Given the description of an element on the screen output the (x, y) to click on. 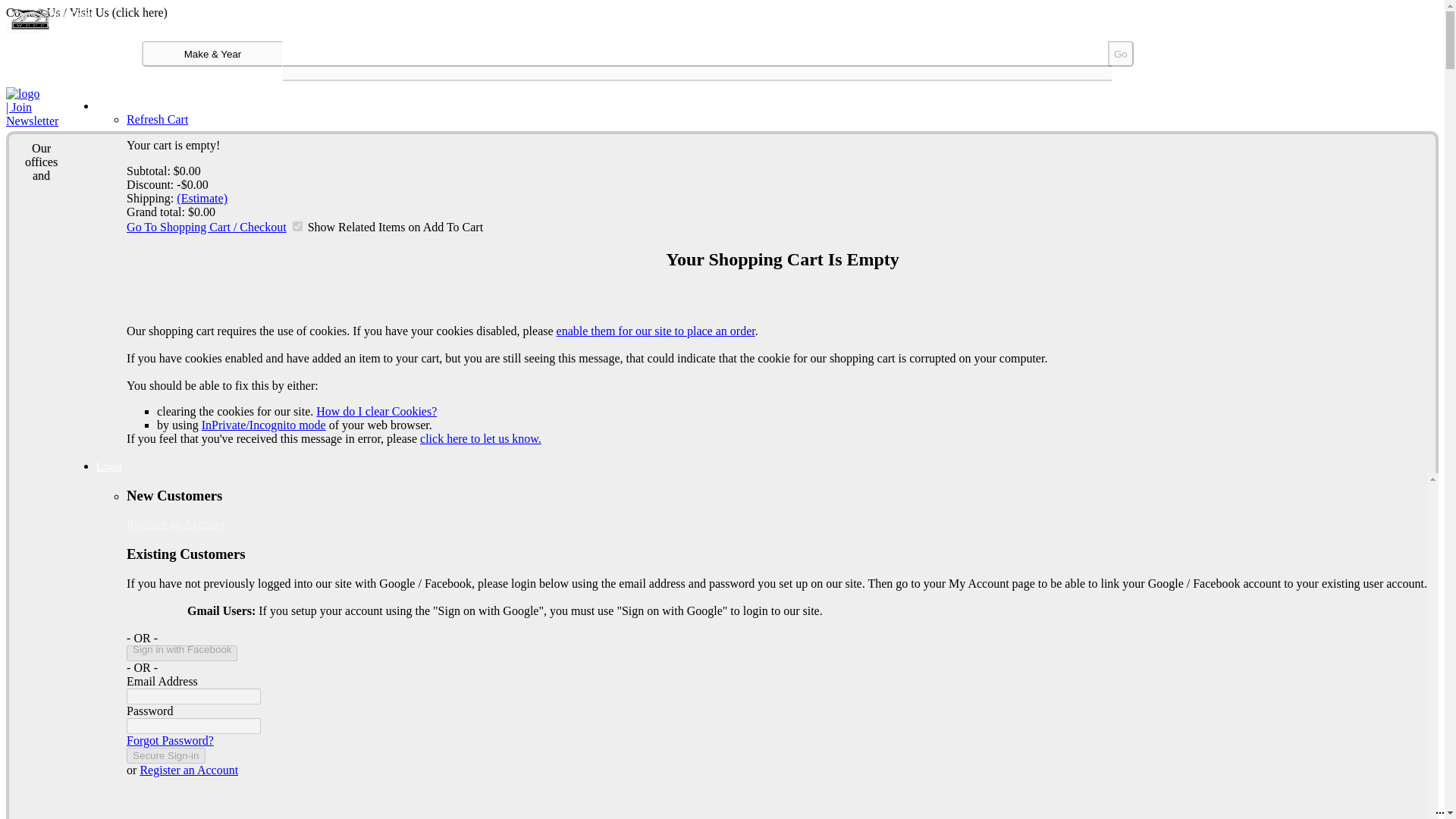
enable them for our site to place an order (655, 330)
Menu (24, 27)
Secure Sign-in (165, 755)
Go (1121, 53)
How do I clear Cookies? (375, 410)
Help with Cookies (655, 330)
View Main Menu (24, 27)
Sign in with Facebook (181, 652)
Go (1121, 53)
on (297, 225)
Register an Account (188, 769)
Forgot Password? (170, 739)
click here to let us know. (480, 438)
Login (108, 466)
Secure Sign-in (165, 755)
